Given the description of an element on the screen output the (x, y) to click on. 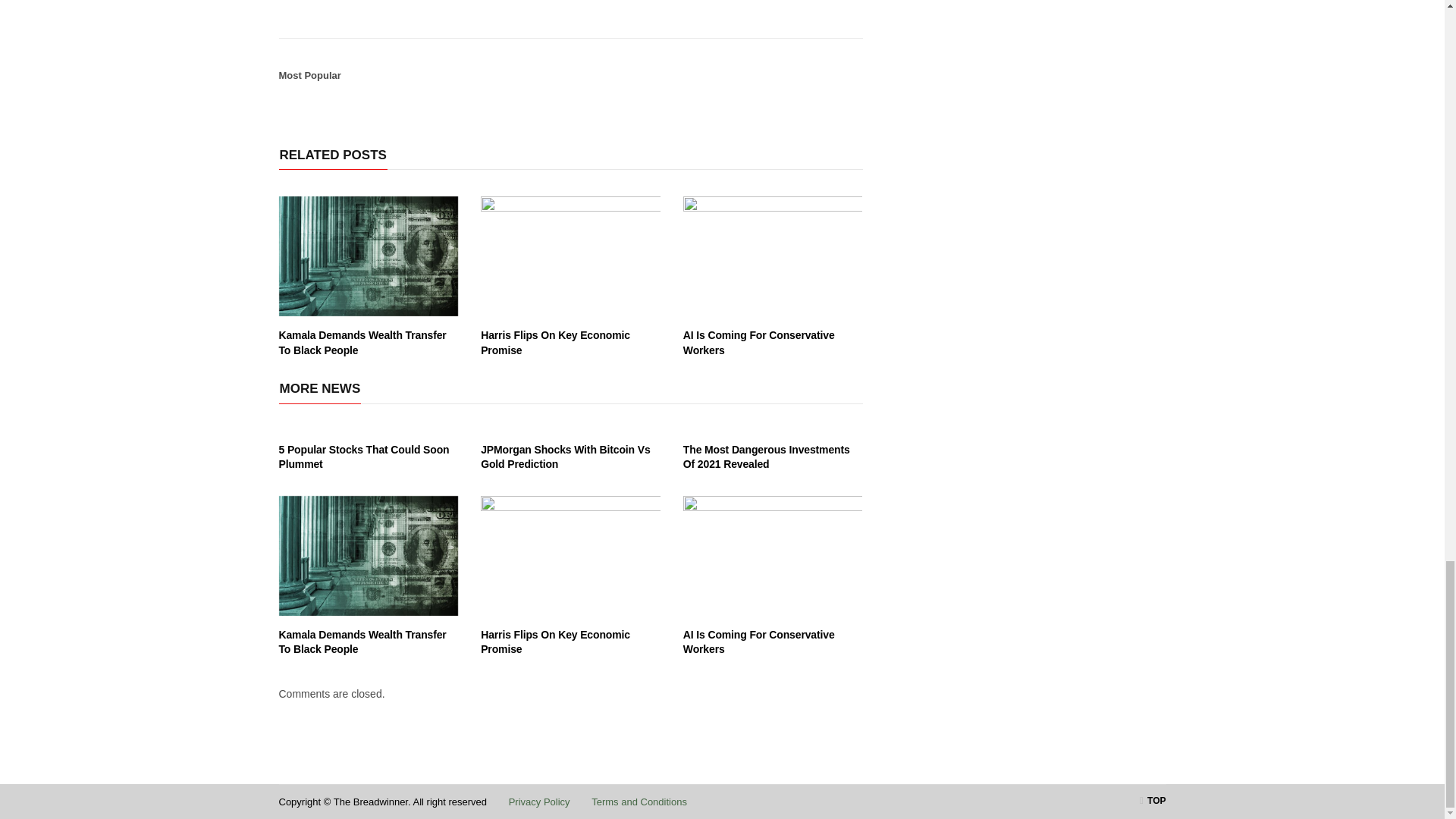
The Most Dangerous Investments Of 2021 Revealed (766, 456)
Kamala Demands Wealth Transfer To Black People (362, 342)
Kamala Demands Wealth Transfer To Black People (362, 642)
5 Popular Stocks That Could Soon Plummet (364, 456)
JPMorgan Shocks With Bitcoin Vs Gold Prediction (564, 456)
Kamala Demands Wealth Transfer To Black People (368, 256)
AI Is Coming For Conservative Workers (772, 256)
AI Is Coming For Conservative Workers (758, 342)
Harris Flips On Key Economic Promise (570, 256)
Harris Flips On Key Economic Promise (555, 342)
